Given the description of an element on the screen output the (x, y) to click on. 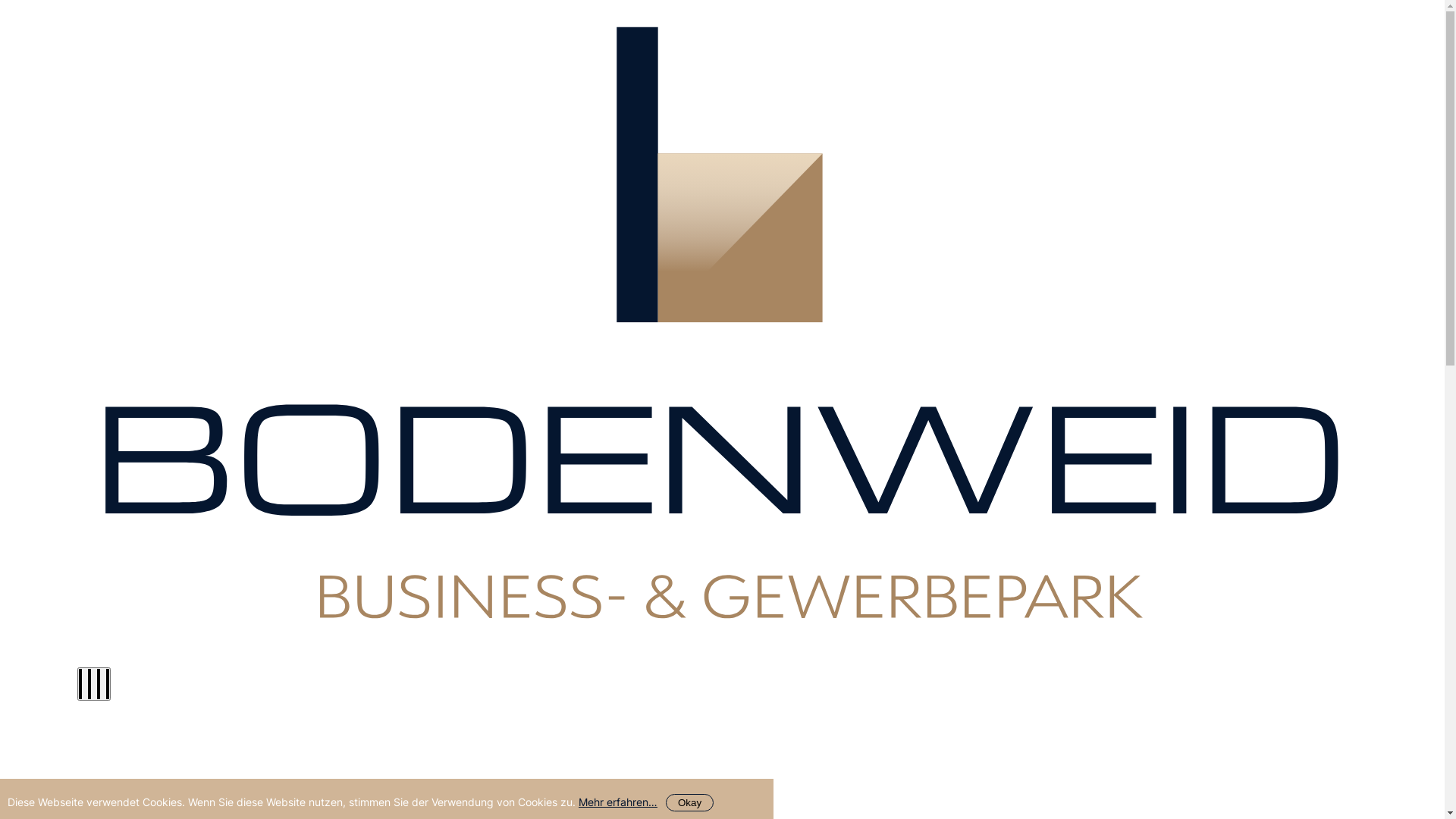
Okay Element type: text (689, 802)
